Given the description of an element on the screen output the (x, y) to click on. 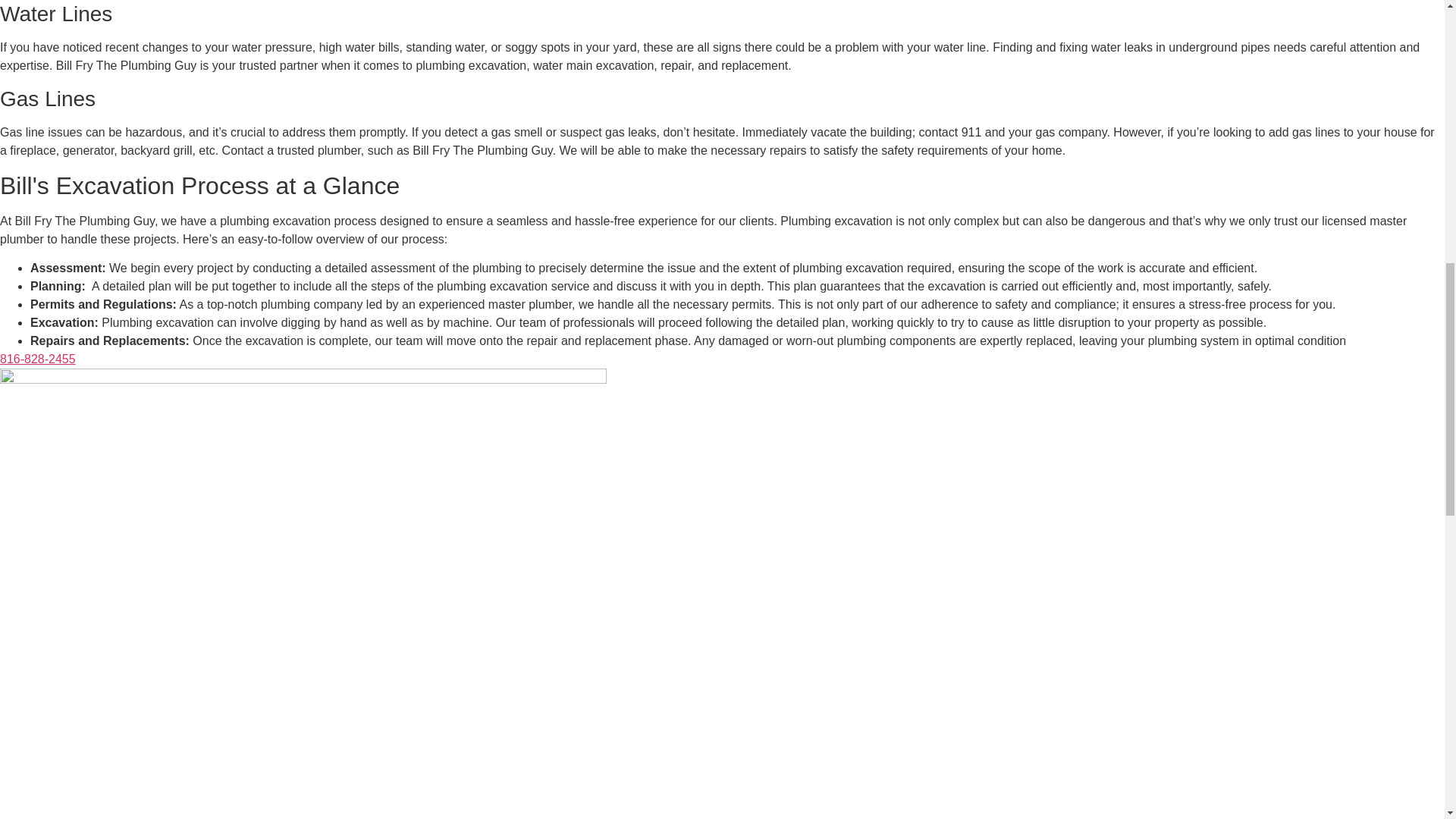
816-828-2455 (37, 358)
